Given the description of an element on the screen output the (x, y) to click on. 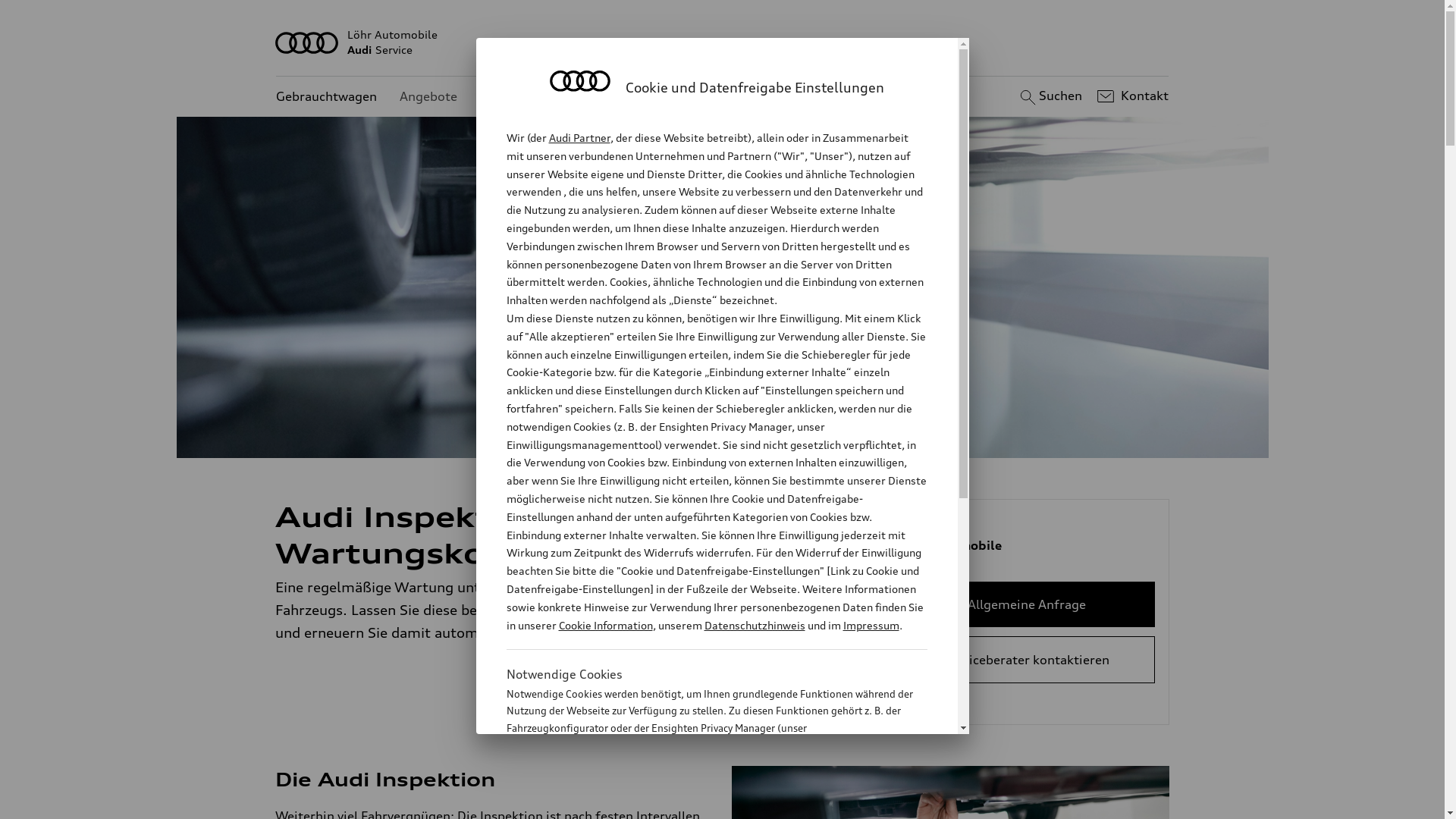
Cookie Information Element type: text (700, 802)
Allgemeine Anfrage Element type: text (1025, 604)
Cookie Information Element type: text (605, 624)
Kontakt Element type: text (1130, 96)
Kundenservice Element type: text (523, 96)
Serviceberater kontaktieren Element type: text (1025, 659)
Audi Partner Element type: text (579, 137)
Angebote Element type: text (428, 96)
Impressum Element type: text (871, 624)
Datenschutzhinweis Element type: text (753, 624)
Gebrauchtwagen Element type: text (326, 96)
Suchen Element type: text (1049, 96)
